Given the description of an element on the screen output the (x, y) to click on. 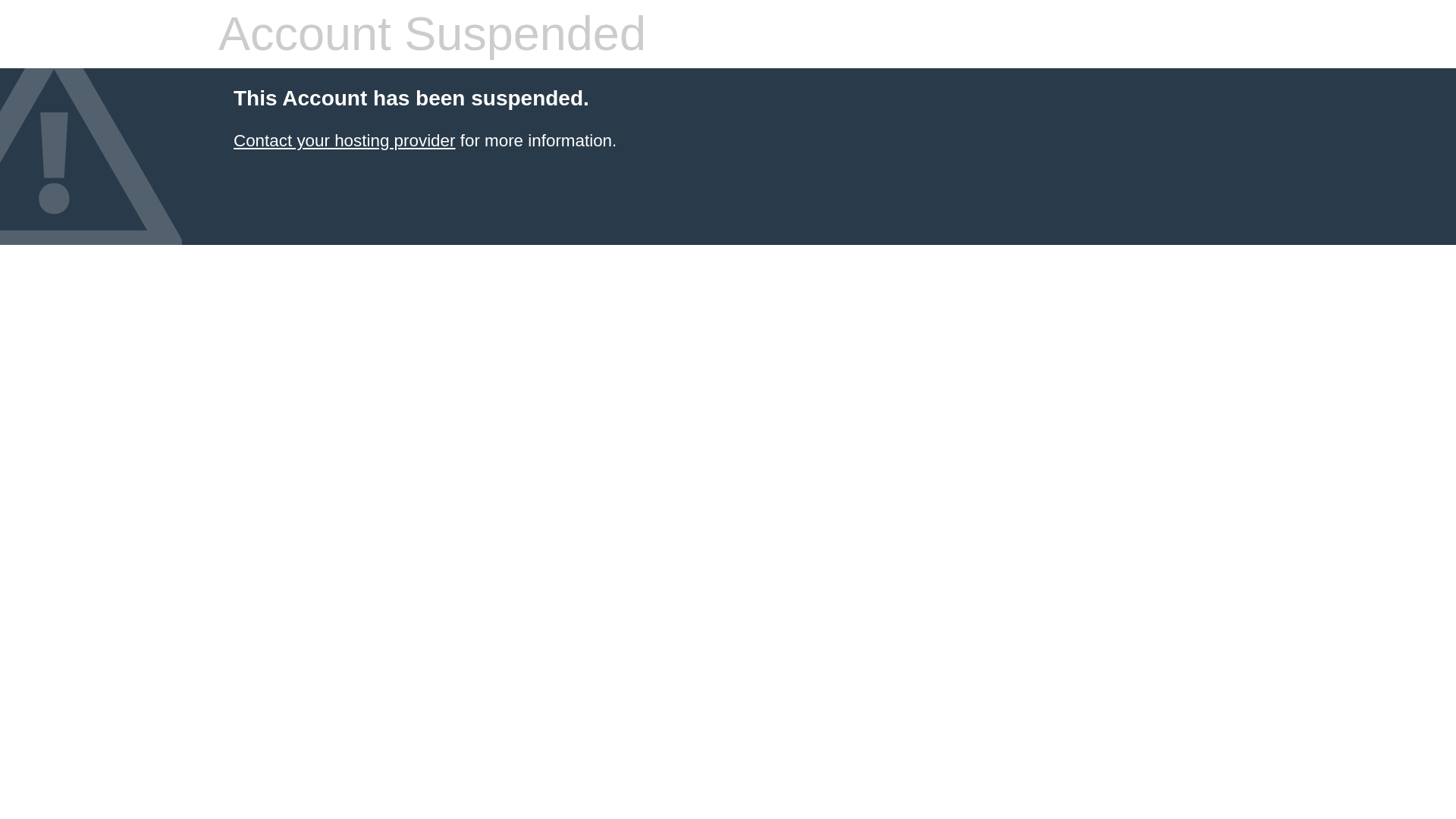
Contact your hosting provider (343, 140)
